Given the description of an element on the screen output the (x, y) to click on. 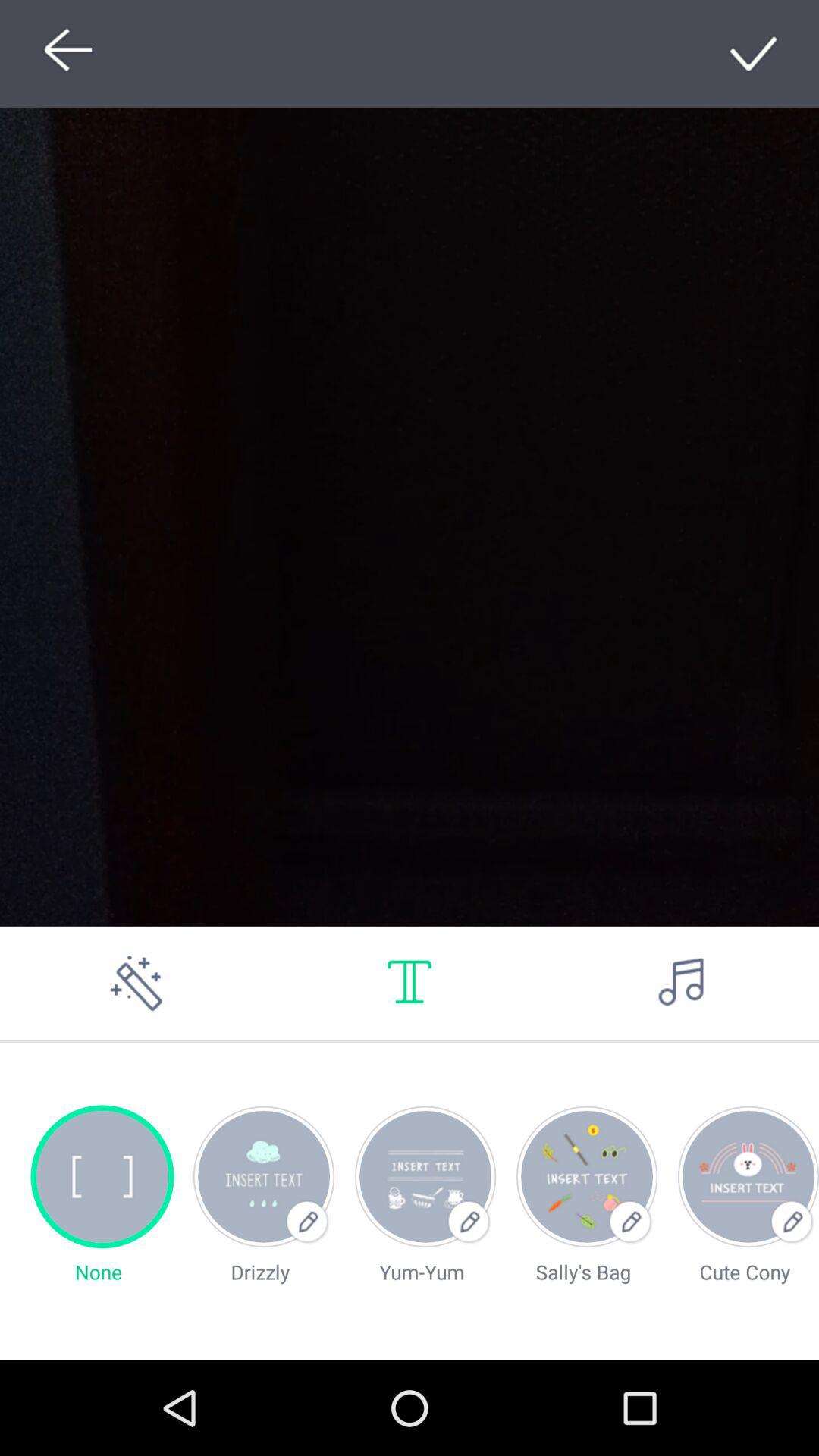
go back (63, 53)
